Given the description of an element on the screen output the (x, y) to click on. 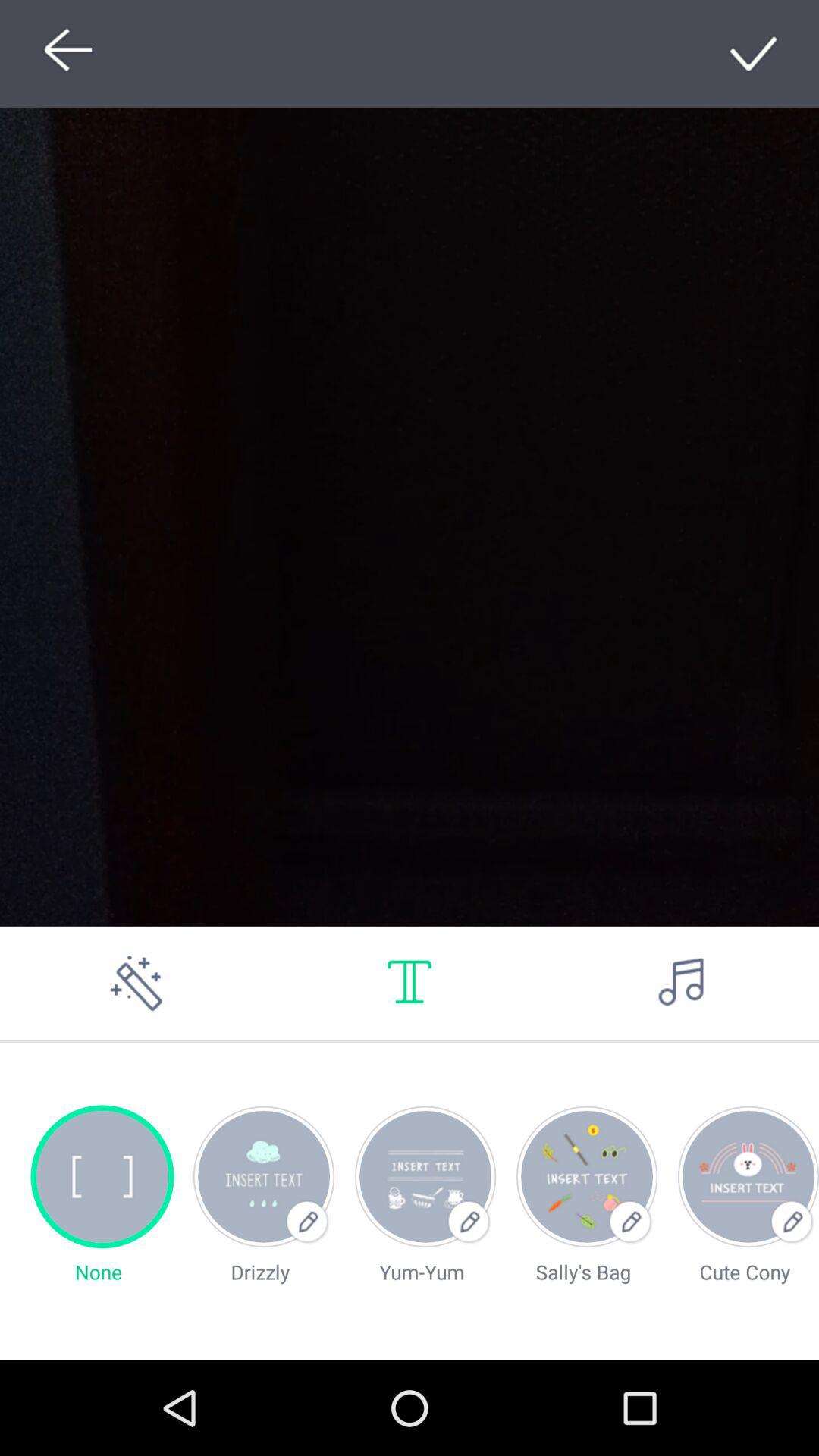
go back (63, 53)
